Given the description of an element on the screen output the (x, y) to click on. 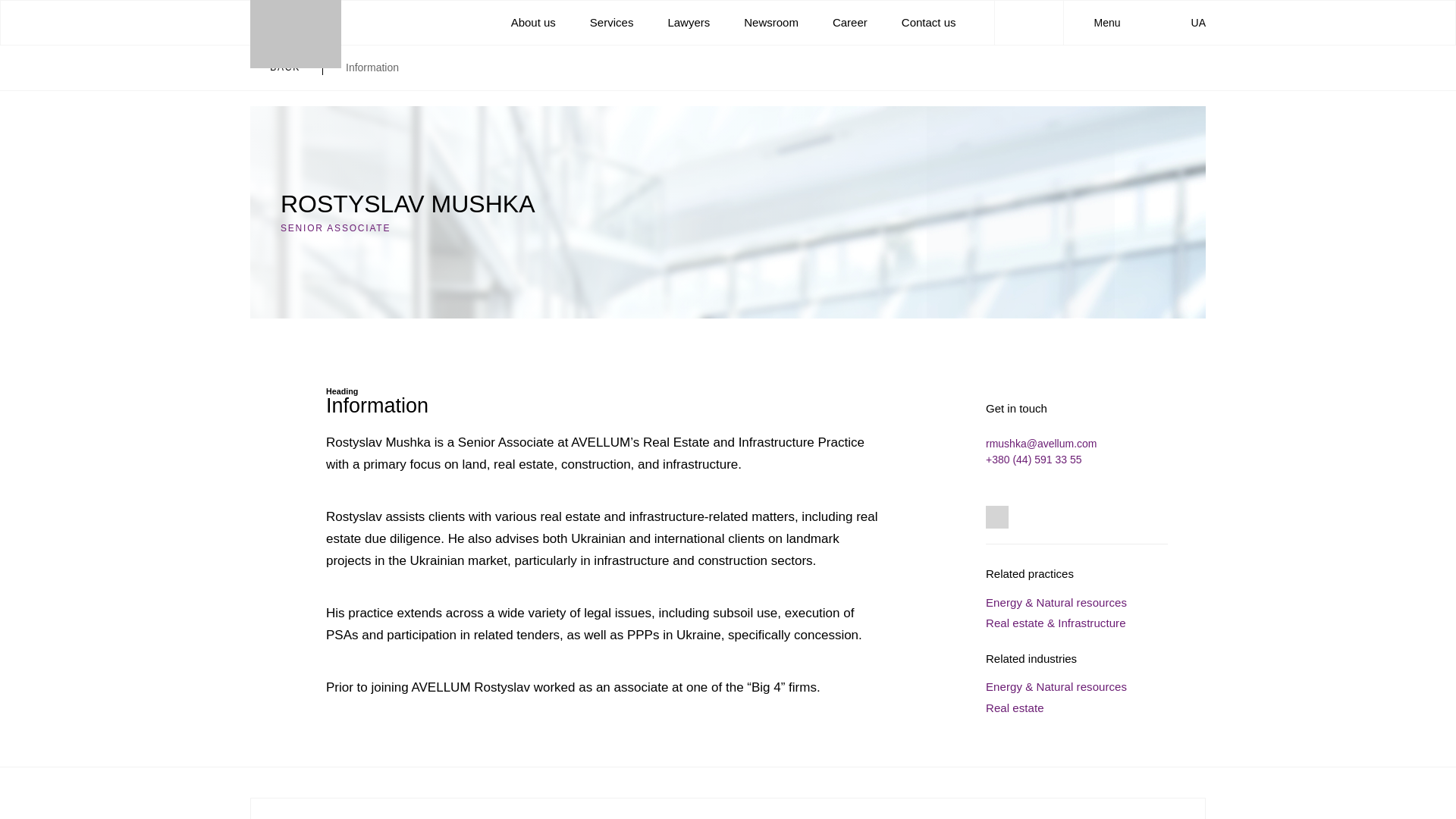
Newsroom (770, 21)
Lawyers (688, 21)
Career (849, 21)
EDUCATION AND BAR ADMISSION (727, 808)
About us (533, 21)
Services (611, 21)
Information (372, 67)
Real estate (1014, 707)
Contact us (928, 21)
UA (1190, 22)
